Given the description of an element on the screen output the (x, y) to click on. 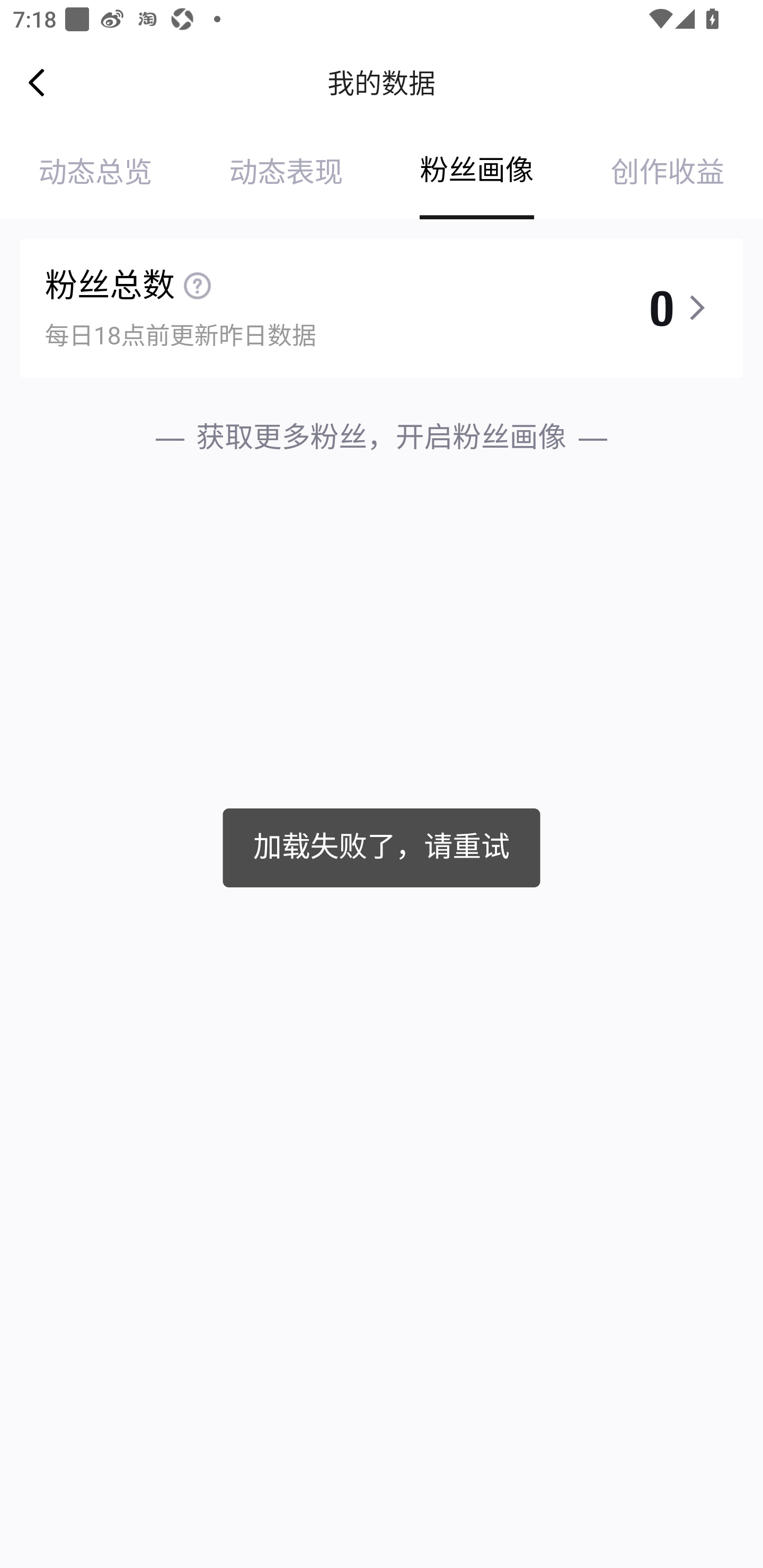
Navigate up (36, 82)
动态总览 (95, 173)
动态表现 (285, 173)
粉丝画像 (476, 173)
创作收益 (667, 173)
